Given the description of an element on the screen output the (x, y) to click on. 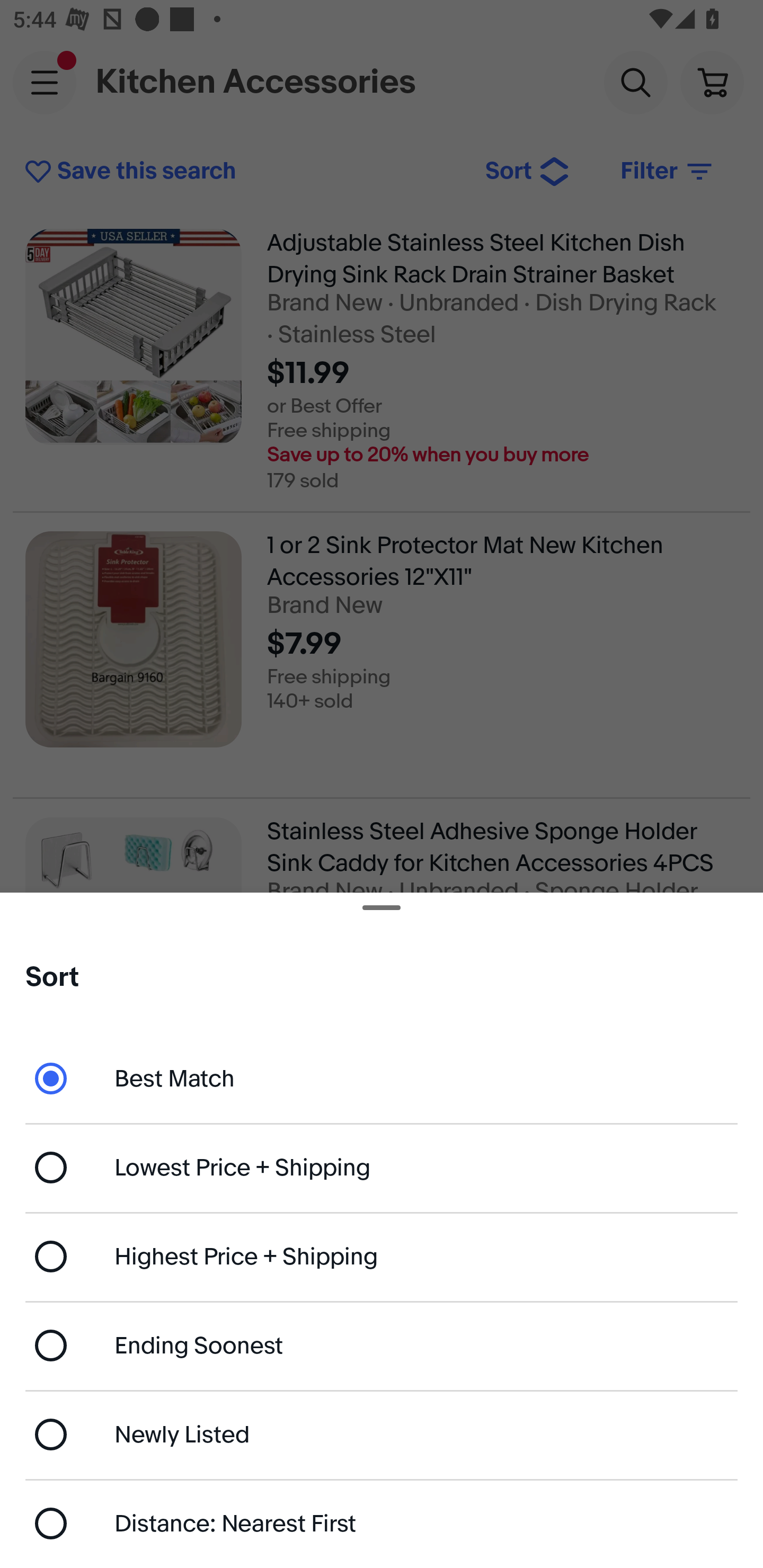
Best Match - currently selected Best Match (381, 1077)
Lowest Price + Shipping (381, 1167)
Highest Price + Shipping (381, 1256)
Ending Soonest (381, 1345)
Newly Listed (381, 1433)
Distance: Nearest First (381, 1523)
